Given the description of an element on the screen output the (x, y) to click on. 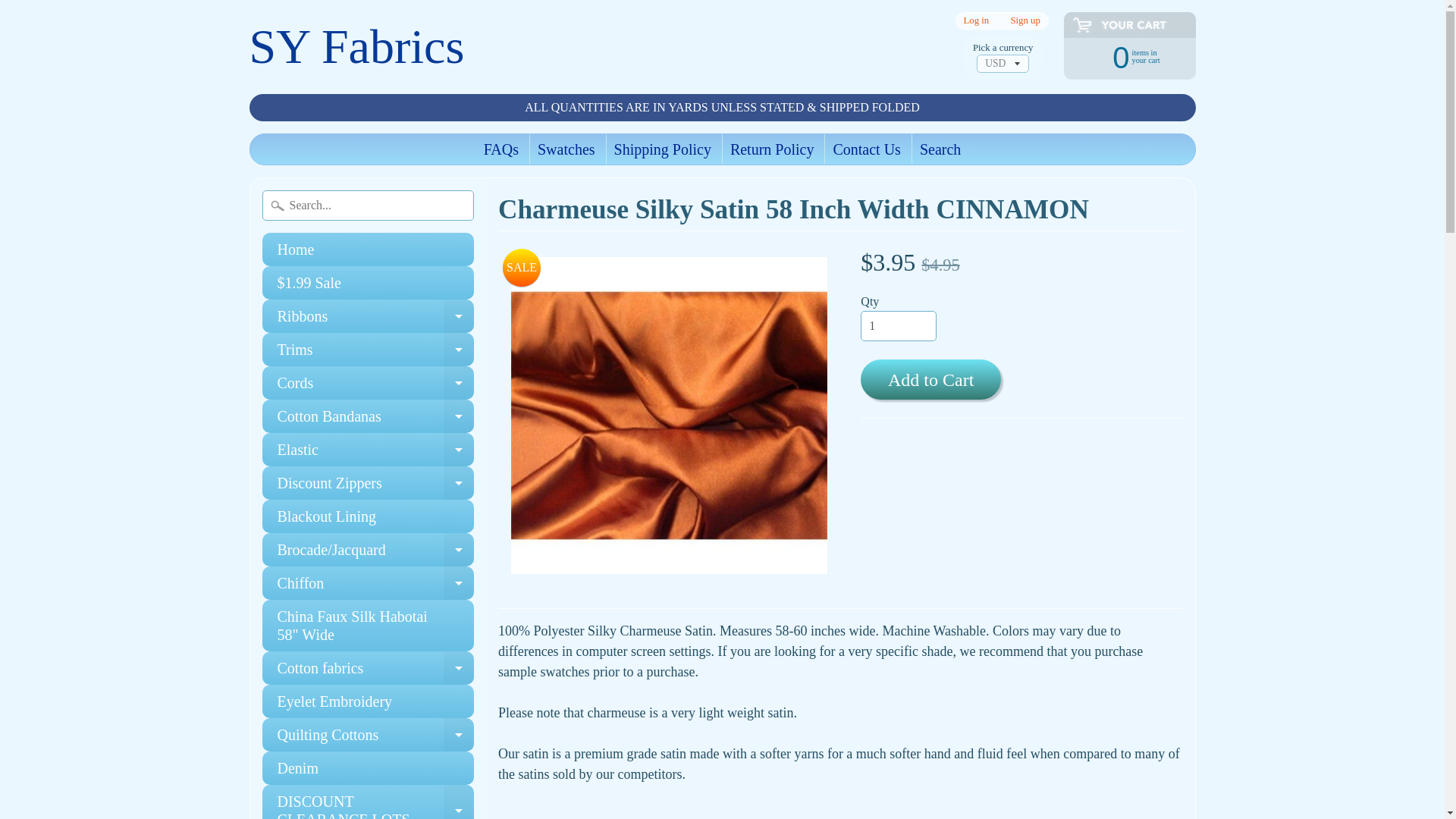
Contact Us (866, 149)
Expand child menu (368, 416)
Log in (459, 315)
Sign up (975, 20)
FAQs (368, 315)
Expand child menu (1122, 56)
Expand child menu (1025, 20)
SY Fabrics (500, 149)
1 (368, 349)
SY Fabrics (459, 382)
